Given the description of an element on the screen output the (x, y) to click on. 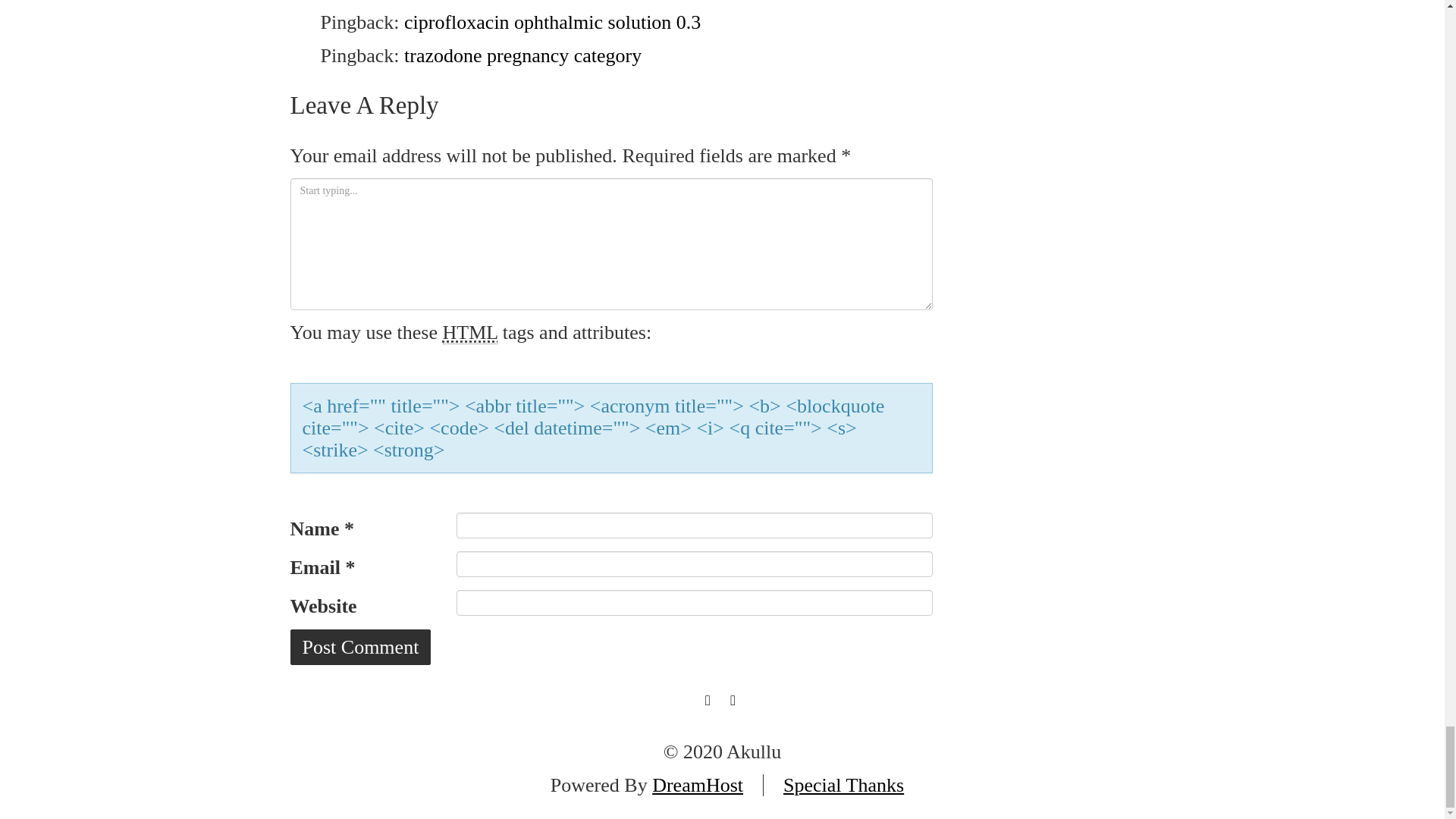
HyperText Markup Language (469, 332)
Post Comment (359, 647)
